Given the description of an element on the screen output the (x, y) to click on. 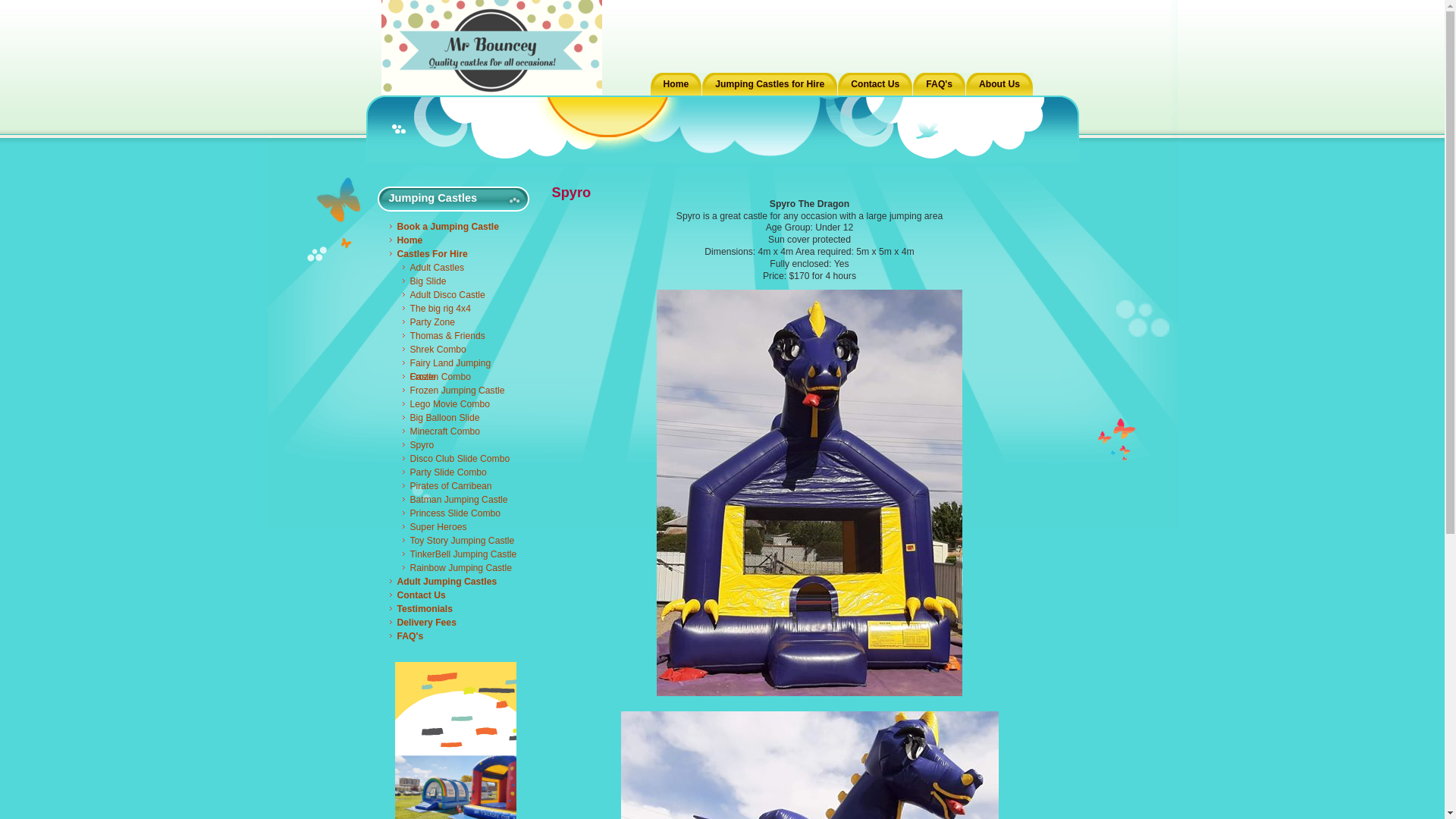
Thomas & Friends Element type: text (459, 335)
Lego Movie Combo Element type: text (459, 404)
Princess Slide Combo Element type: text (459, 513)
Toy Story Jumping Castle Element type: text (459, 540)
Rainbow Jumping Castle Element type: text (459, 567)
About Us Element type: text (999, 83)
Adult Jumping Castles Element type: text (454, 581)
Testimonials Element type: text (454, 608)
Home Element type: text (676, 83)
Disco Club Slide Combo Element type: text (459, 458)
Adult Castles Element type: text (459, 267)
FAQ's Element type: text (939, 83)
Shrek Combo Element type: text (459, 349)
Super Heroes Element type: text (459, 526)
Castles For Hire Element type: text (454, 253)
Big Balloon Slide Element type: text (459, 417)
Jumping Castles for Hire Element type: text (769, 83)
Contact Us Element type: text (874, 83)
Spyro Element type: text (459, 444)
Book a Jumping Castle Element type: text (454, 226)
Party Slide Combo Element type: text (459, 472)
Pirates of Carribean Element type: text (459, 485)
Big Slide Element type: text (459, 281)
TinkerBell Jumping Castle Element type: text (459, 554)
Delivery Fees Element type: text (454, 622)
Frozen Jumping Castle Element type: text (459, 390)
Party Zone Element type: text (459, 322)
Minecraft Combo Element type: text (459, 431)
The big rig 4x4 Element type: text (459, 308)
Home Element type: text (454, 240)
Contact Us Element type: text (454, 595)
Frozen Combo Element type: text (459, 376)
Fairy Land Jumping Castle Element type: text (459, 363)
Batman Jumping Castle Element type: text (459, 499)
FAQ's Element type: text (454, 636)
Adult Disco Castle Element type: text (459, 294)
